Given the description of an element on the screen output the (x, y) to click on. 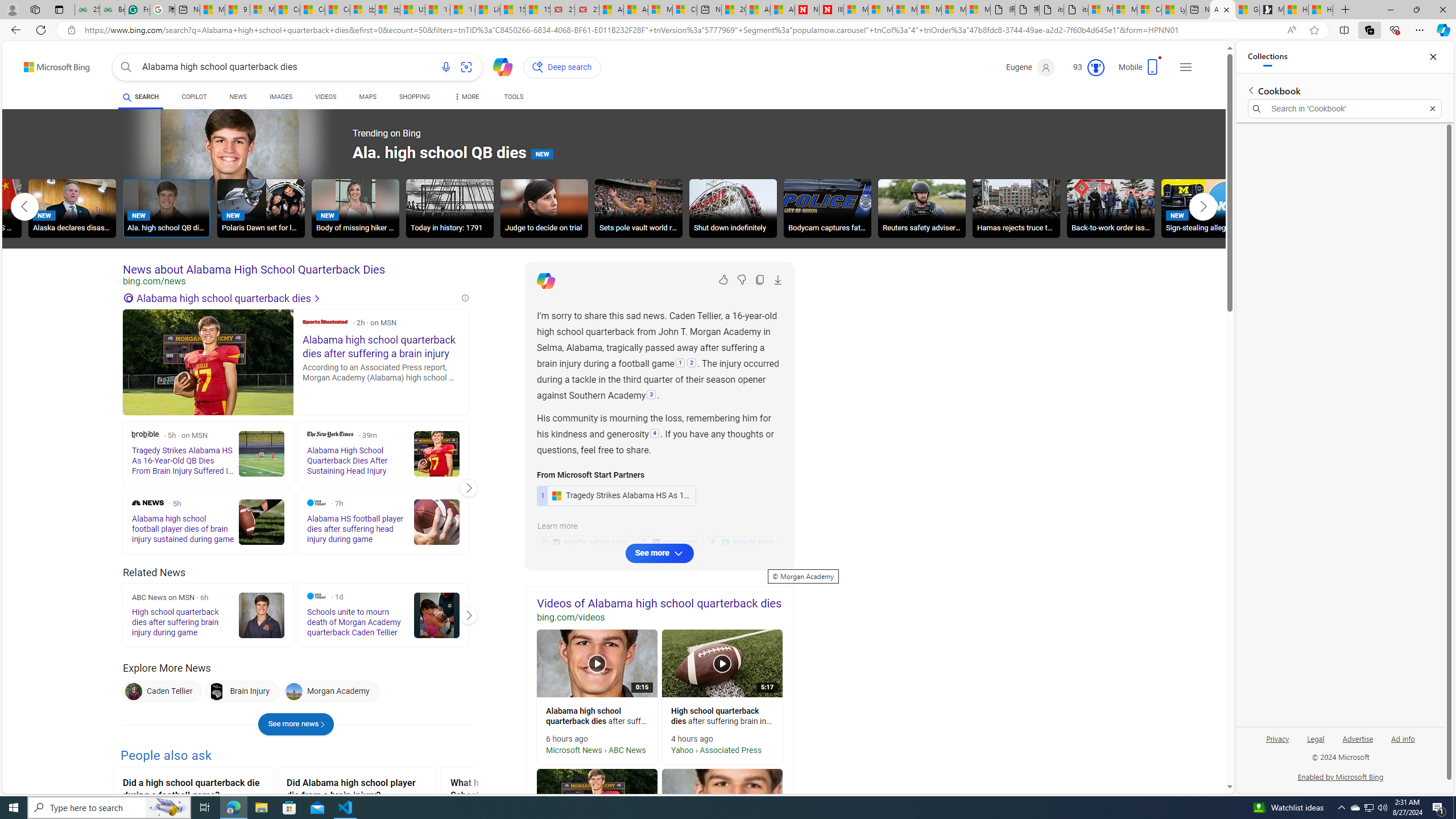
AutomationID: tob_left_arrow (24, 206)
NEWS (237, 96)
Ala. high school QB dies NEW (166, 207)
Alabama high school quarterback dies - Search (1222, 9)
Illness news & latest pictures from Newsweek.com (830, 9)
SHOPPING (414, 96)
Reuters safety adviser killed (921, 209)
